Given the description of an element on the screen output the (x, y) to click on. 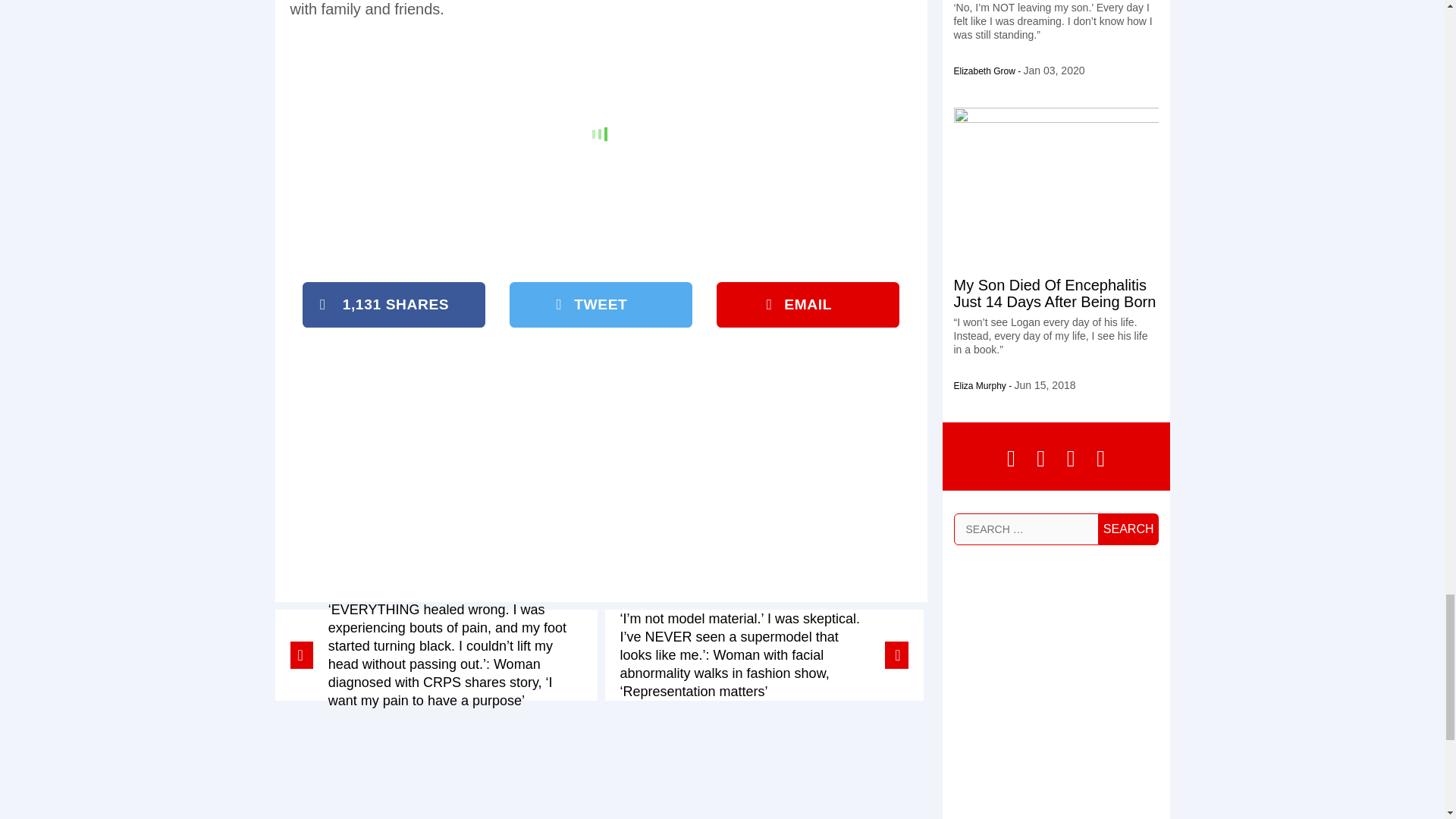
January 3, 2020 (1053, 70)
June 15, 2018 (1044, 385)
Search (1128, 528)
Search (1128, 528)
